Given the description of an element on the screen output the (x, y) to click on. 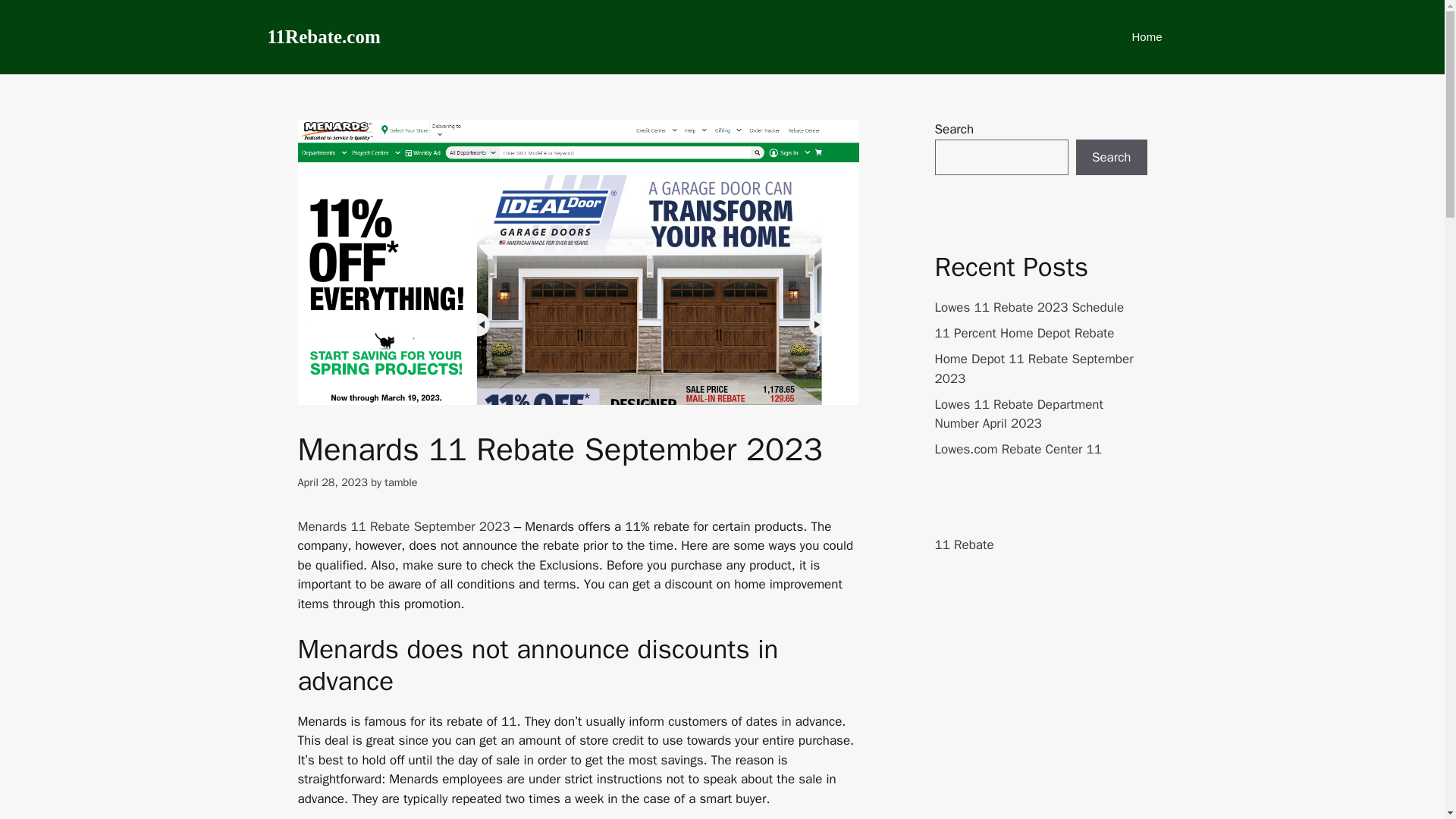
11 Percent Home Depot Rebate (1023, 333)
tamble (400, 481)
Menards 11 Rebate September 2023 (403, 526)
Lowes 11 Rebate Department Number April 2023 (1018, 413)
Lowes 11 Rebate 2023 Schedule (1029, 307)
11 Rebate (963, 544)
11Rebate.com (323, 37)
Home Depot 11 Rebate September 2023 (1033, 368)
Search (1111, 157)
Home (1146, 36)
View all posts by tamble (400, 481)
Lowes.com Rebate Center 11 (1017, 449)
